Given the description of an element on the screen output the (x, y) to click on. 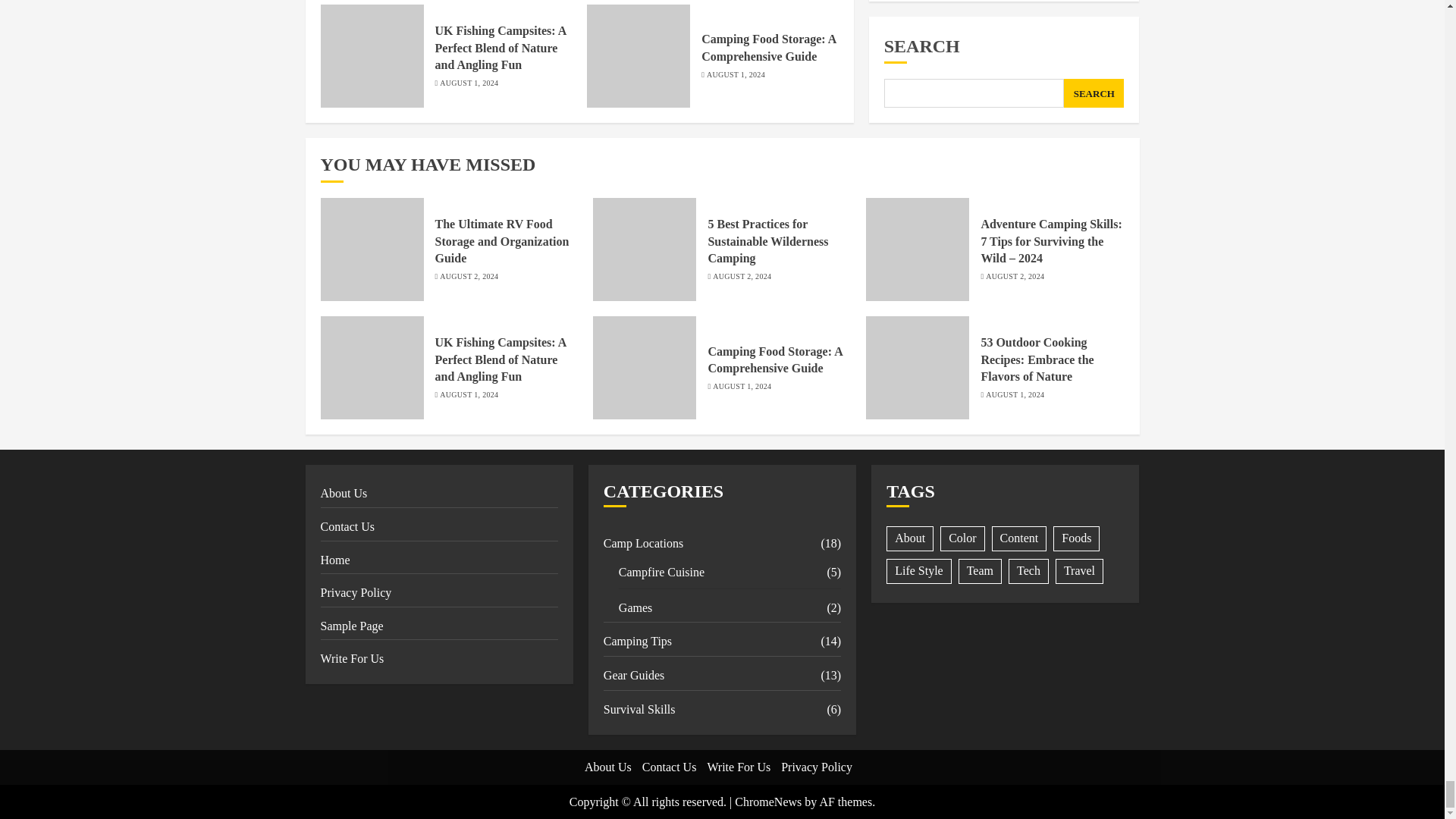
AUGUST 1, 2024 (468, 82)
Camping Food Storage: A Comprehensive Guide (768, 47)
AUGUST 1, 2024 (735, 74)
